Given the description of an element on the screen output the (x, y) to click on. 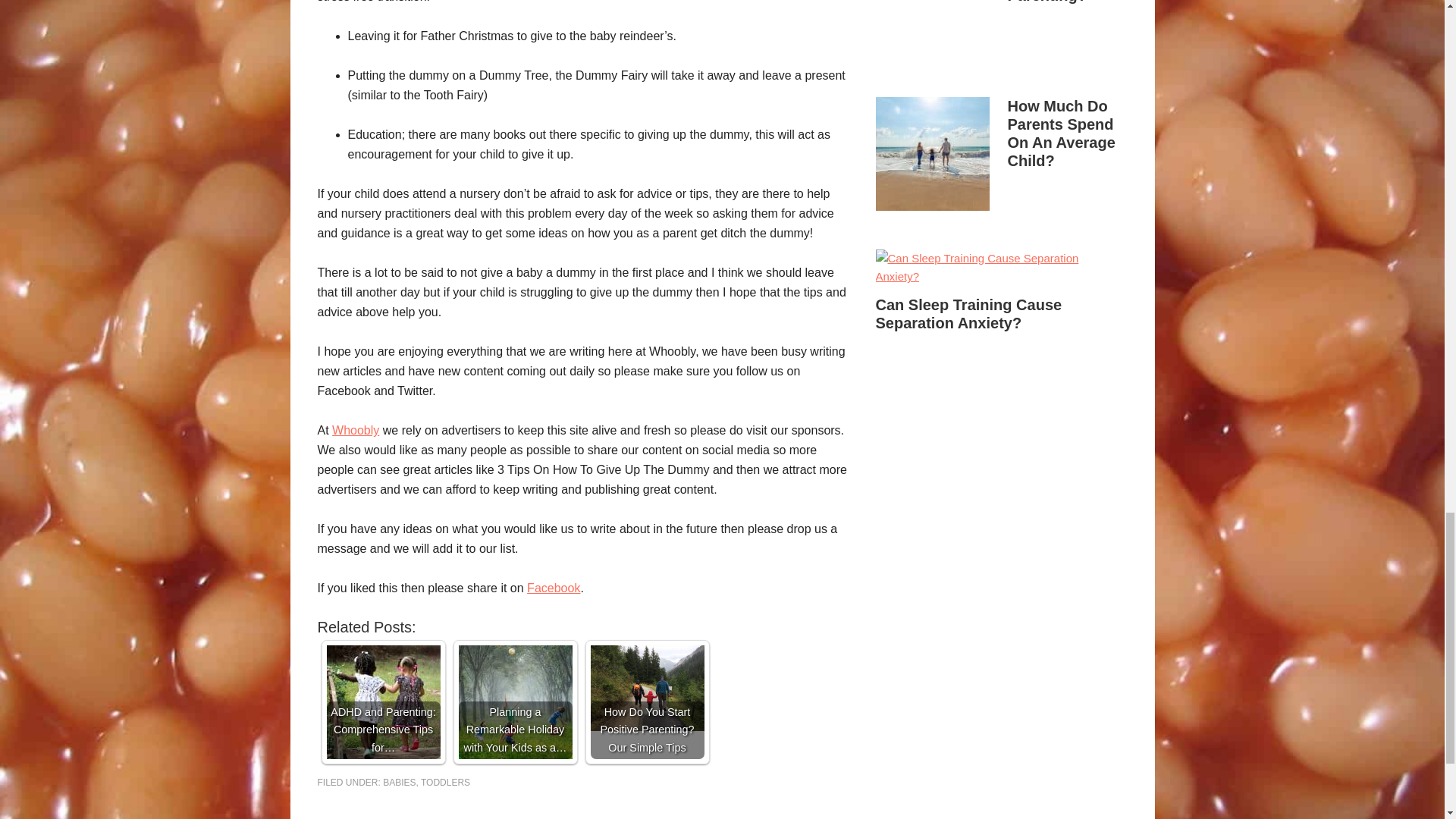
Facebook (553, 587)
TODDLERS (445, 782)
BABIES (398, 782)
Whoobly (354, 430)
How Do You Start Positive Parenting? Our Simple Tips (646, 688)
How Do You Start Positive Parenting? Our Simple Tips (646, 702)
